Given the description of an element on the screen output the (x, y) to click on. 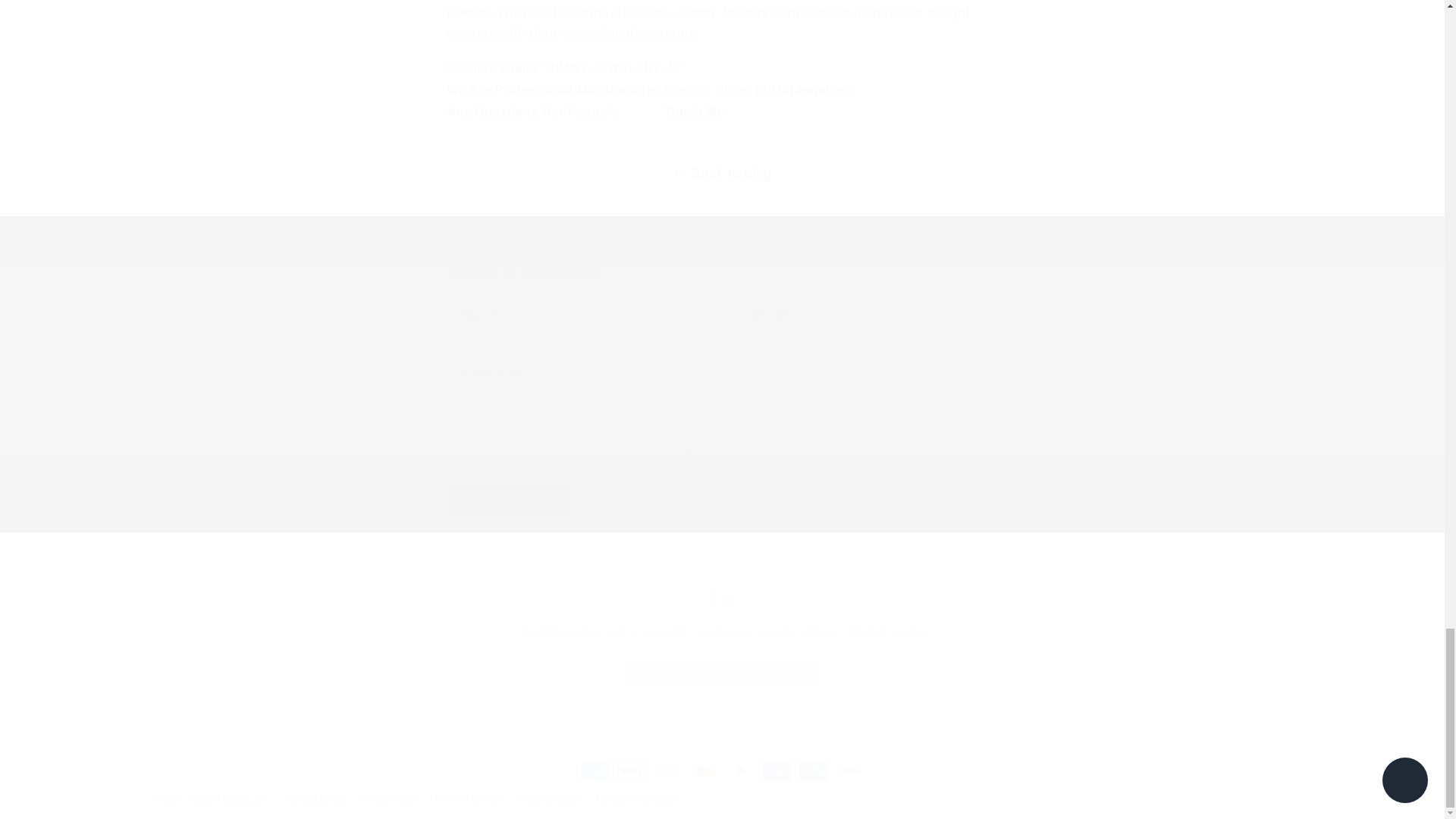
News (721, 622)
Post comment (722, 632)
